Given the description of an element on the screen output the (x, y) to click on. 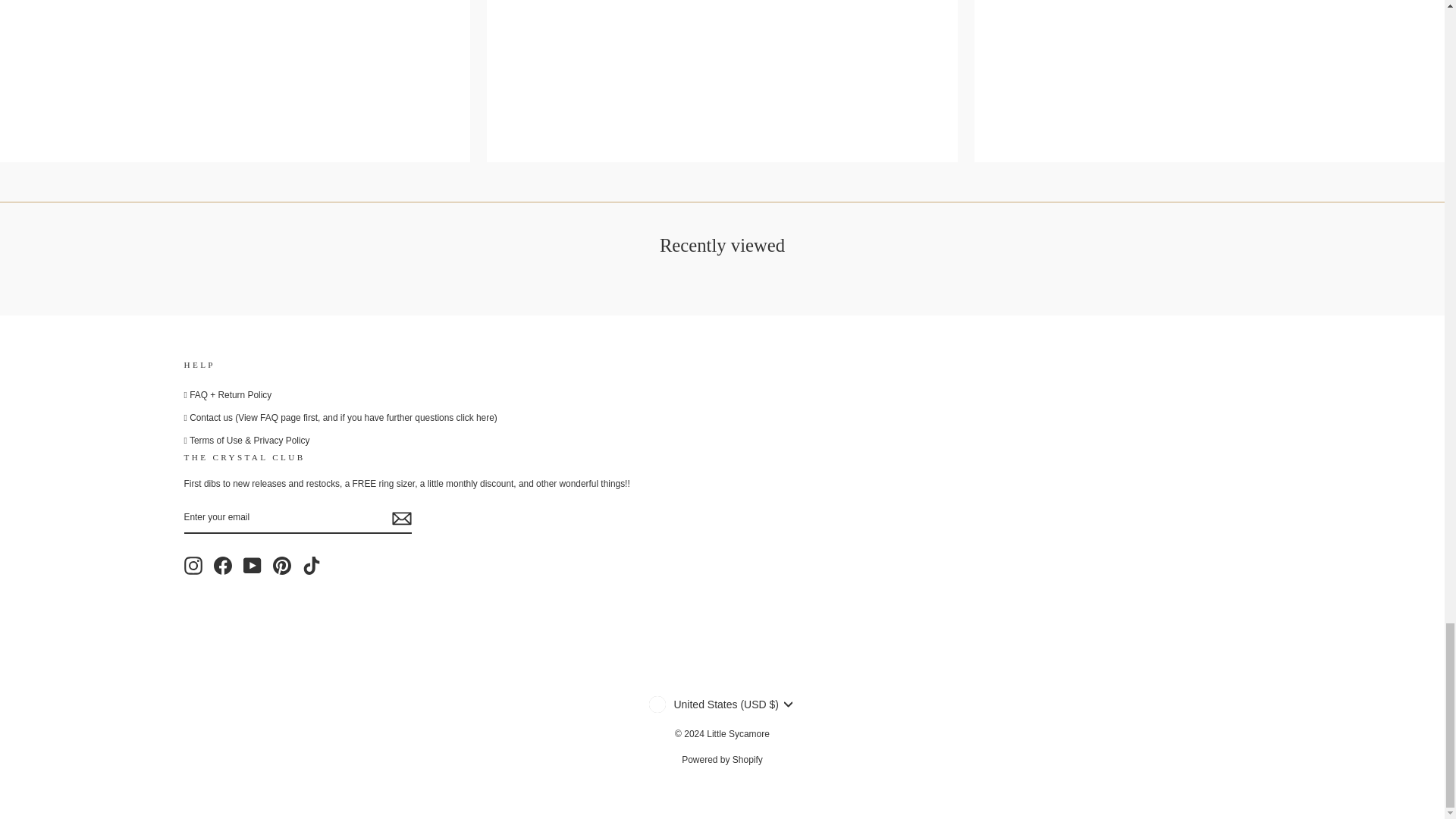
Little Sycamore on Facebook (222, 565)
Little Sycamore on Pinterest (282, 565)
Little Sycamore on YouTube (251, 565)
instagram (192, 565)
Little Sycamore on Instagram (192, 565)
Little Sycamore on TikTok (310, 565)
icon-email (400, 518)
